Given the description of an element on the screen output the (x, y) to click on. 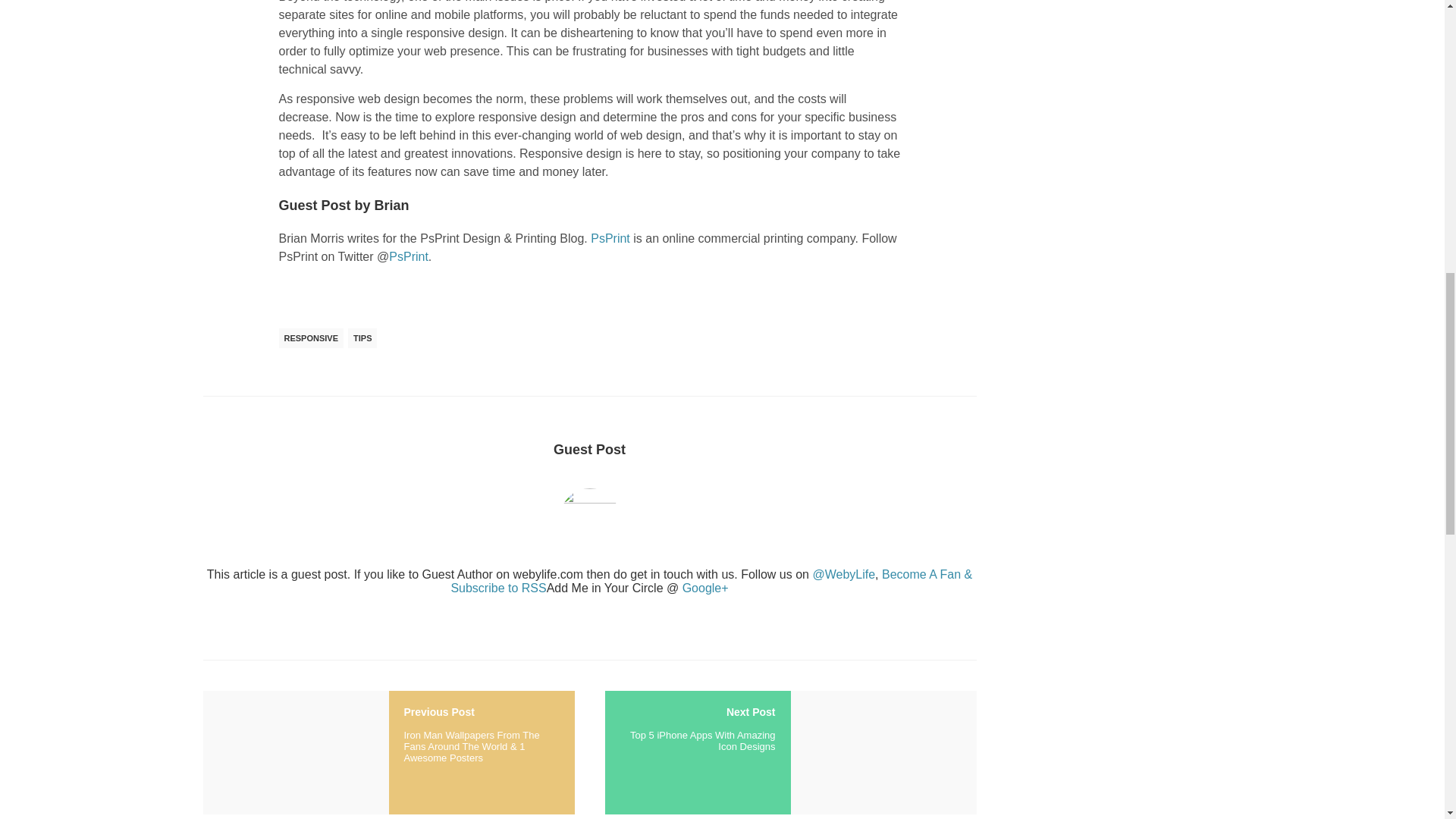
TIPS (362, 338)
RESPONSIVE (311, 338)
PsPrint (408, 256)
PsPrint (610, 237)
